Given the description of an element on the screen output the (x, y) to click on. 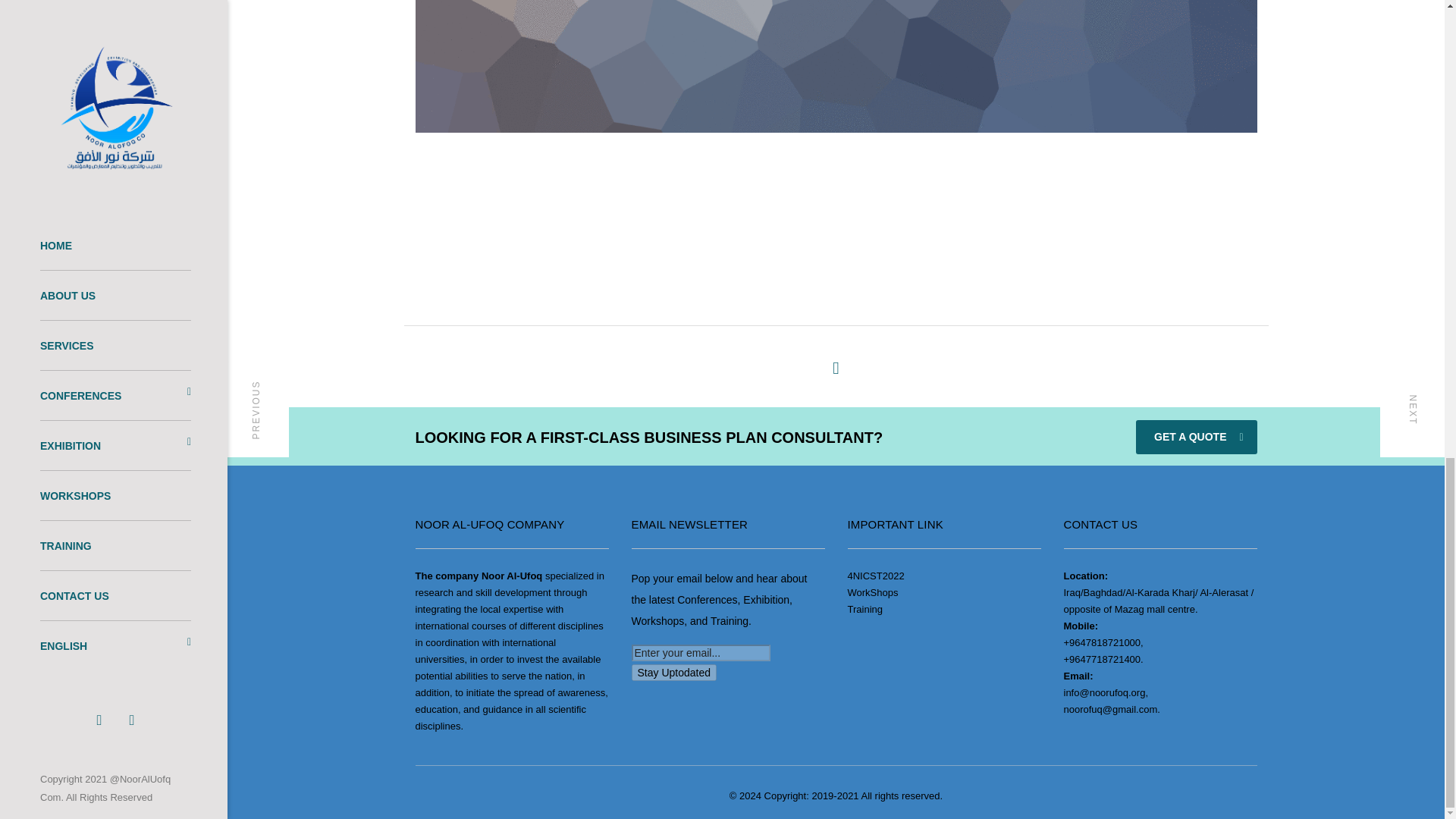
Stay Uptodated (673, 672)
